Given the description of an element on the screen output the (x, y) to click on. 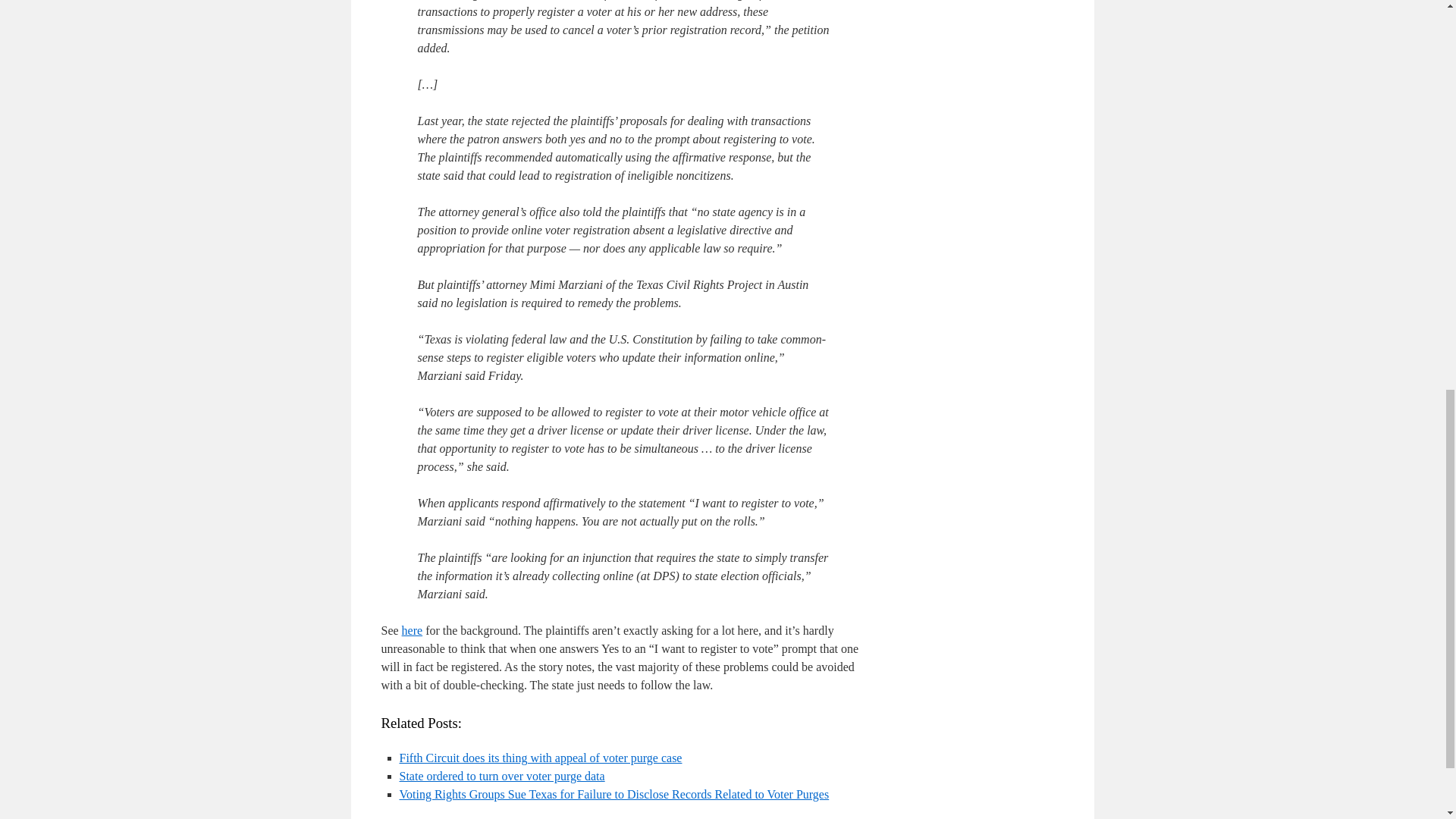
here (412, 630)
Fifth Circuit does its thing with appeal of voter purge case (539, 757)
State ordered to turn over voter purge data (501, 775)
State ordered to turn over voter purge data (501, 775)
Fifth Circuit does its thing with appeal of voter purge case (539, 757)
